Given the description of an element on the screen output the (x, y) to click on. 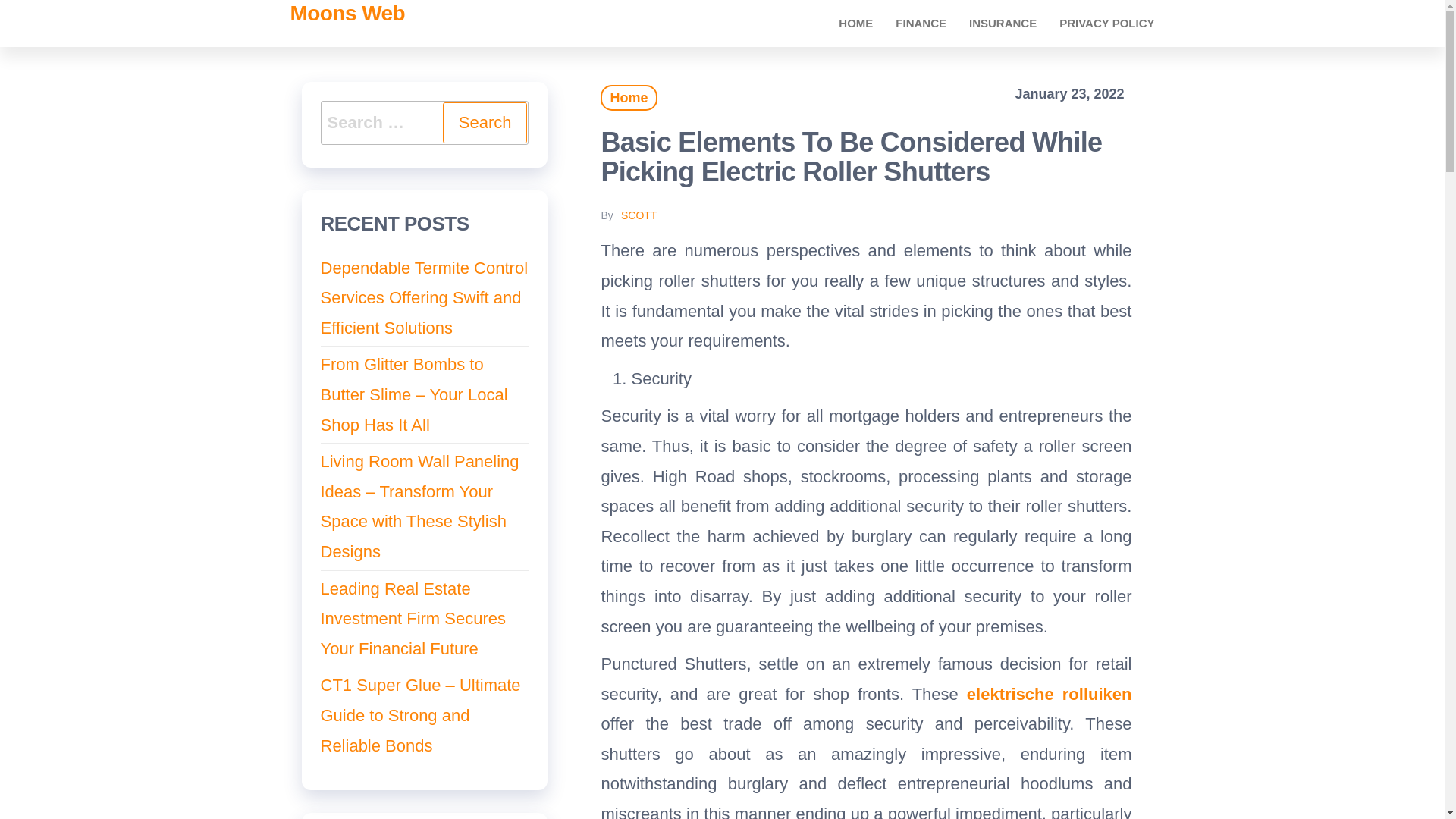
Finance (920, 22)
PRIVACY POLICY (1107, 22)
INSURANCE (1003, 22)
elektrische rolluiken (1049, 693)
HOME (855, 22)
Search (484, 122)
SCOTT (638, 215)
Moons Web (346, 13)
Home (855, 22)
Search (484, 122)
Home (627, 97)
FINANCE (920, 22)
Insurance (1003, 22)
Search (484, 122)
Privacy Policy (1107, 22)
